Given the description of an element on the screen output the (x, y) to click on. 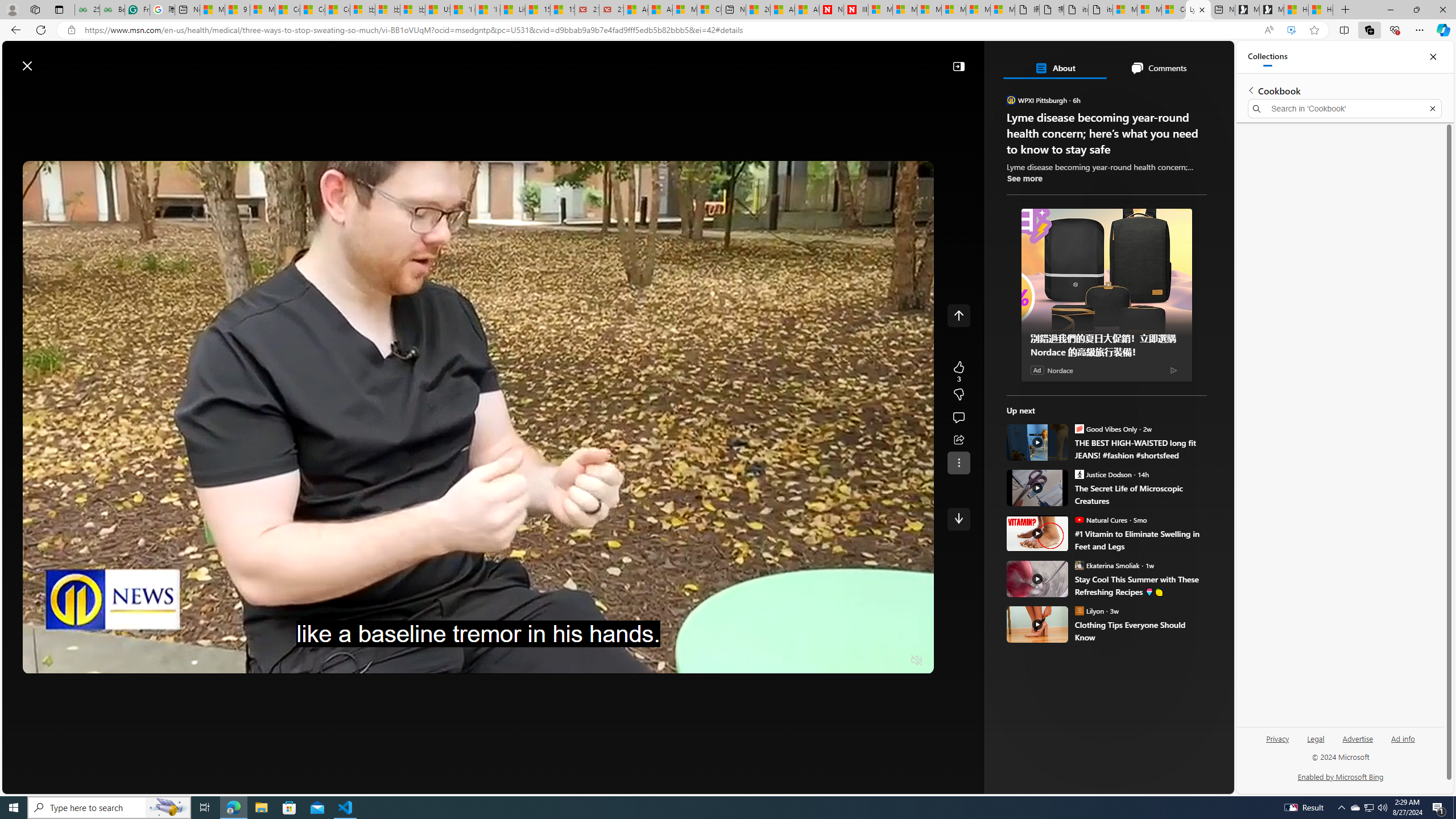
Seek Back (62, 660)
Nordace (1059, 369)
Microsoft Services Agreement (904, 9)
Watch (311, 92)
Captions (871, 660)
25 Basic Linux Commands For Beginners - GeeksforGeeks (86, 9)
